Given the description of an element on the screen output the (x, y) to click on. 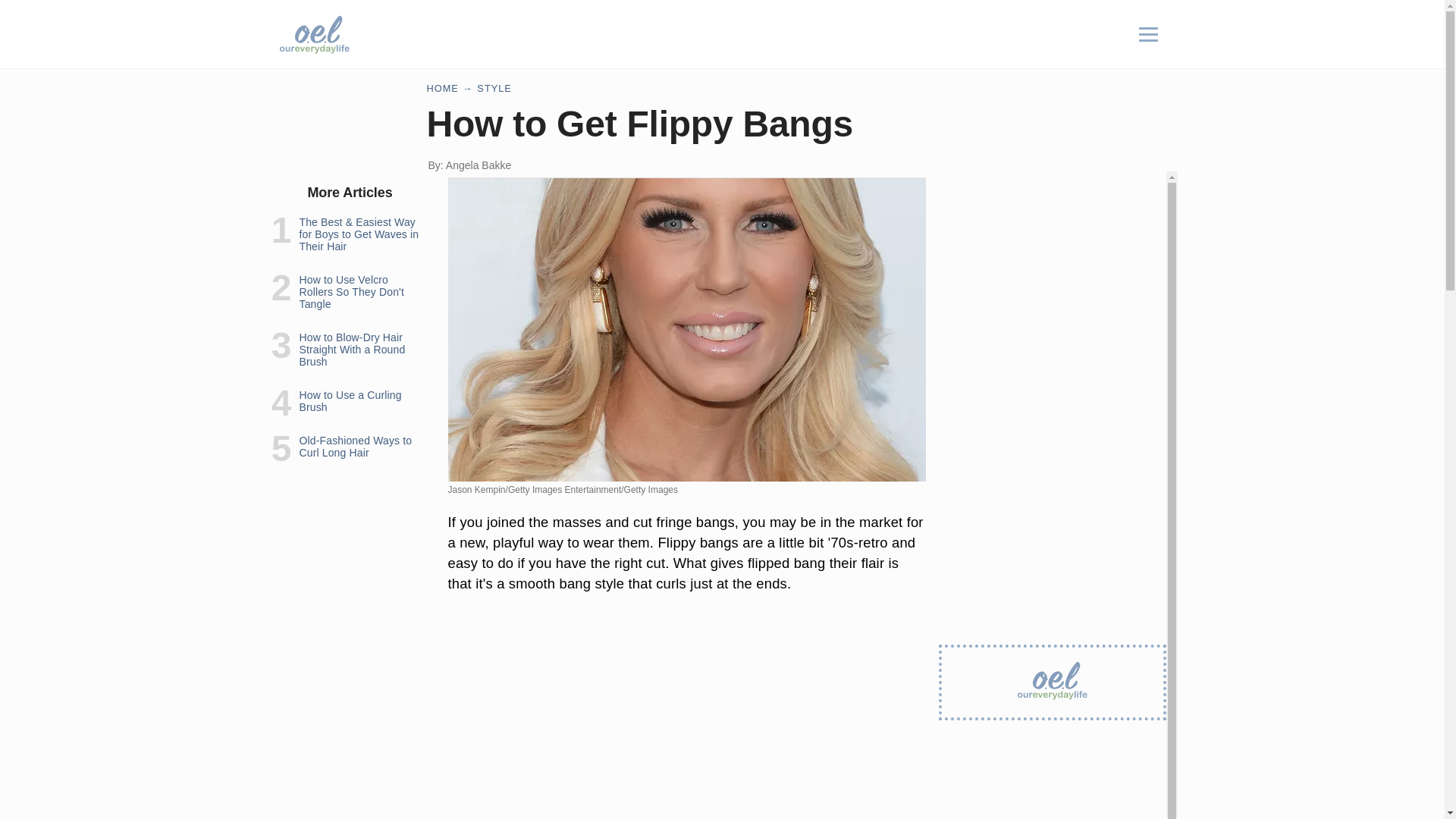
STYLE (494, 88)
Old-Fashioned Ways to Curl Long Hair (355, 446)
How to Use a Curling Brush (349, 401)
How to Use Velcro Rollers So They Don't Tangle (350, 291)
HOME (442, 88)
How to Blow-Dry Hair Straight With a Round Brush (351, 349)
